Given the description of an element on the screen output the (x, y) to click on. 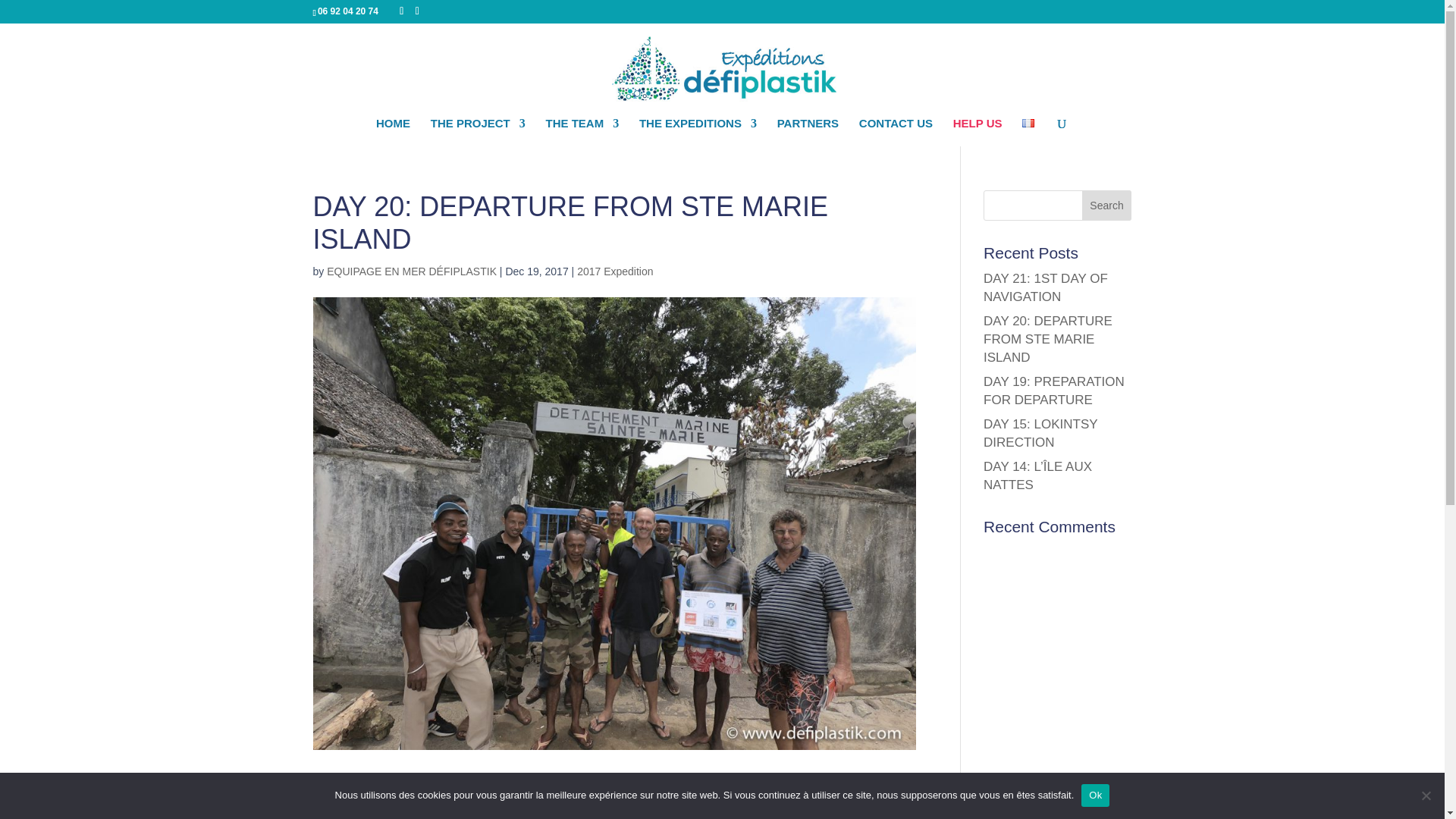
HELP US (978, 131)
HOME (392, 131)
2017 Expedition (614, 271)
PARTNERS (807, 131)
THE TEAM (583, 131)
CONTACT US (896, 131)
Search (1106, 205)
THE PROJECT (477, 131)
Non (1425, 795)
THE EXPEDITIONS (698, 131)
